Given the description of an element on the screen output the (x, y) to click on. 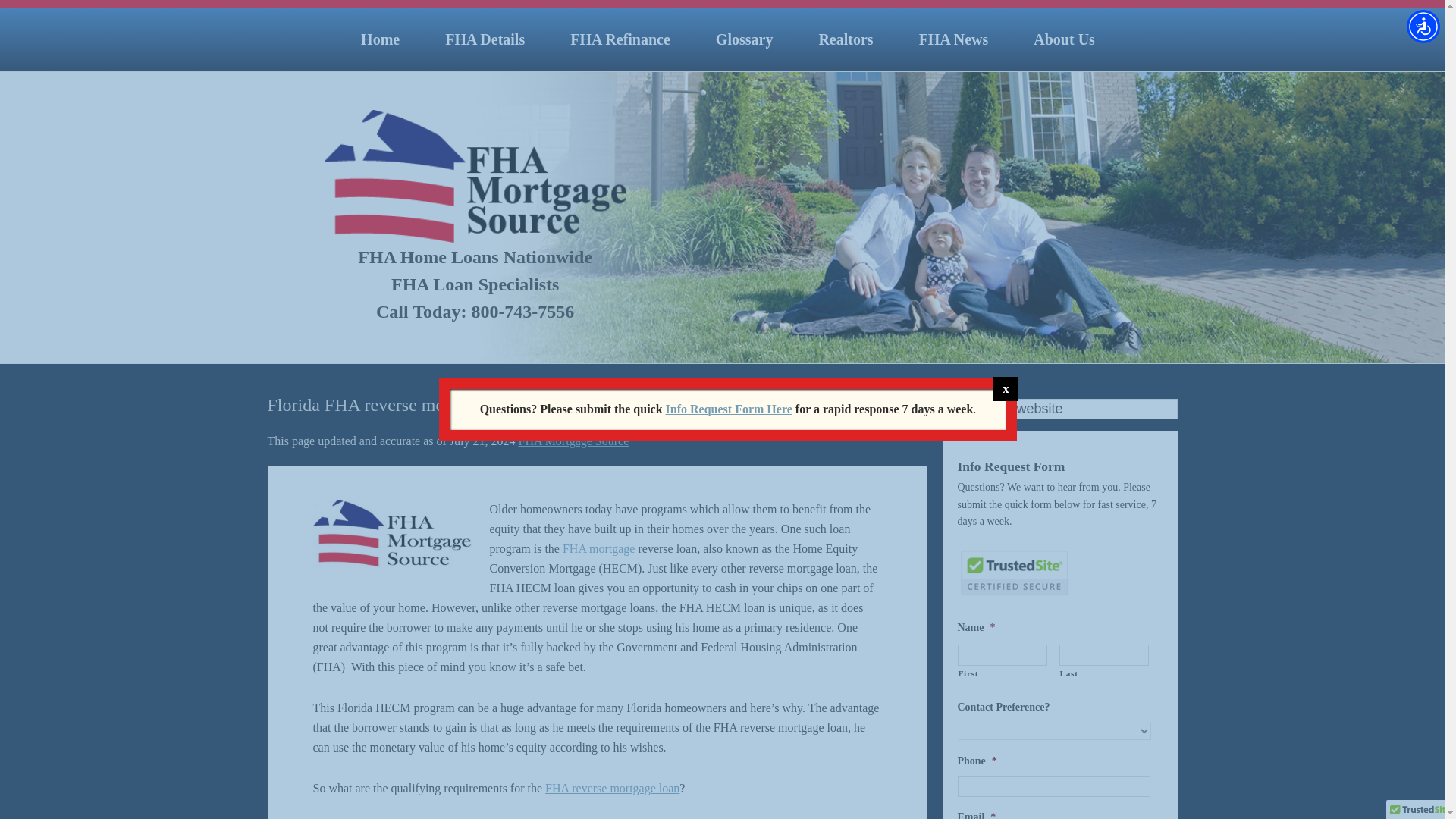
FHA News (953, 39)
FHA Refinance (620, 39)
FHA Details (484, 39)
FHA-Mortgage-Source-Logo (391, 534)
Glossary (744, 39)
FHA reverse mortgage loan (611, 788)
FHA Mortgage Source (573, 440)
About Us (1064, 39)
FHA mortgage (600, 548)
Home (379, 39)
Realtors (844, 39)
Accessibility Menu (1422, 26)
